Given the description of an element on the screen output the (x, y) to click on. 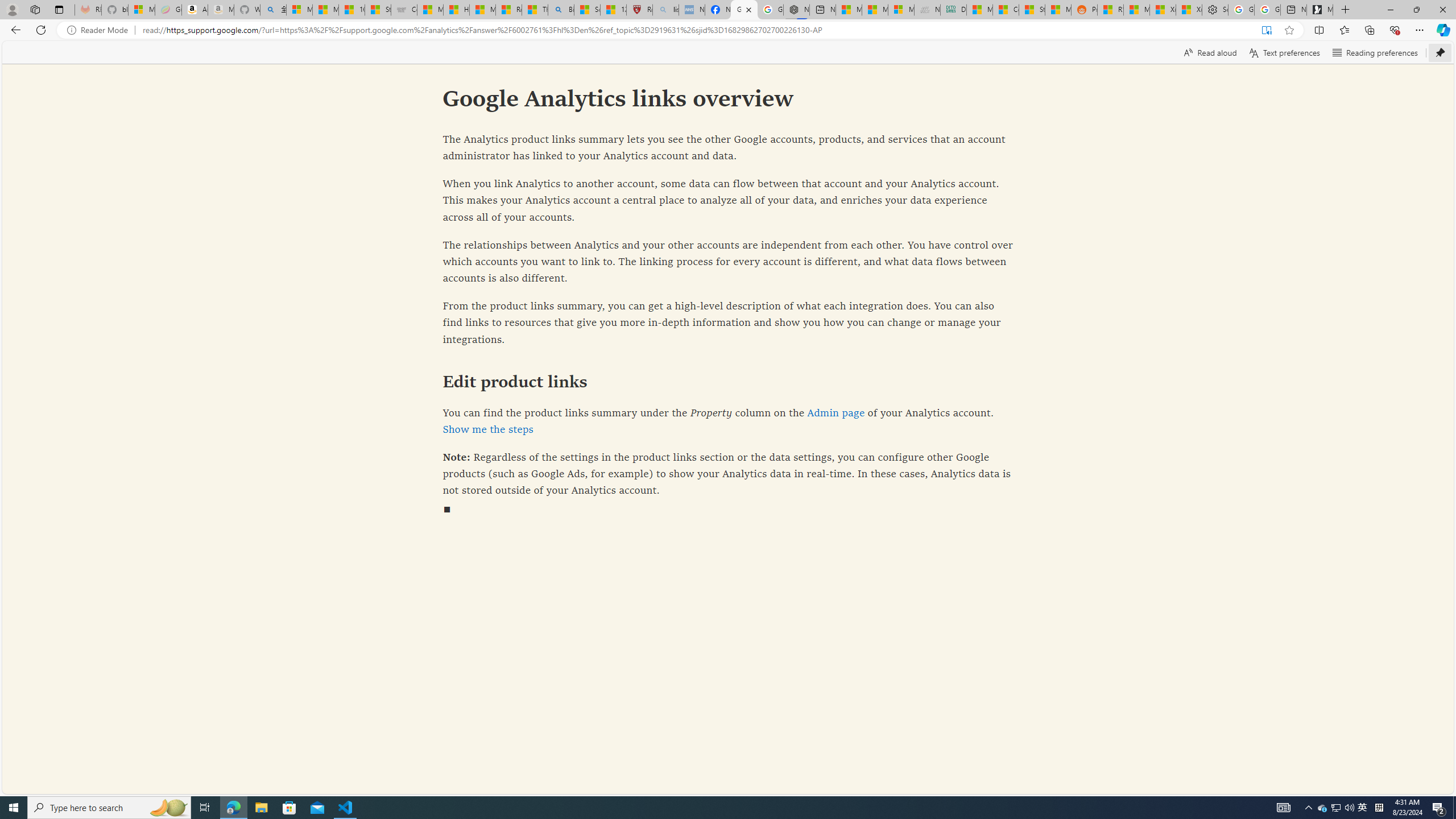
Text preferences (1283, 52)
R******* | Trusted Community Engagement and Contributions (1110, 9)
Unpin toolbar (1439, 52)
Admin page (835, 412)
